Given the description of an element on the screen output the (x, y) to click on. 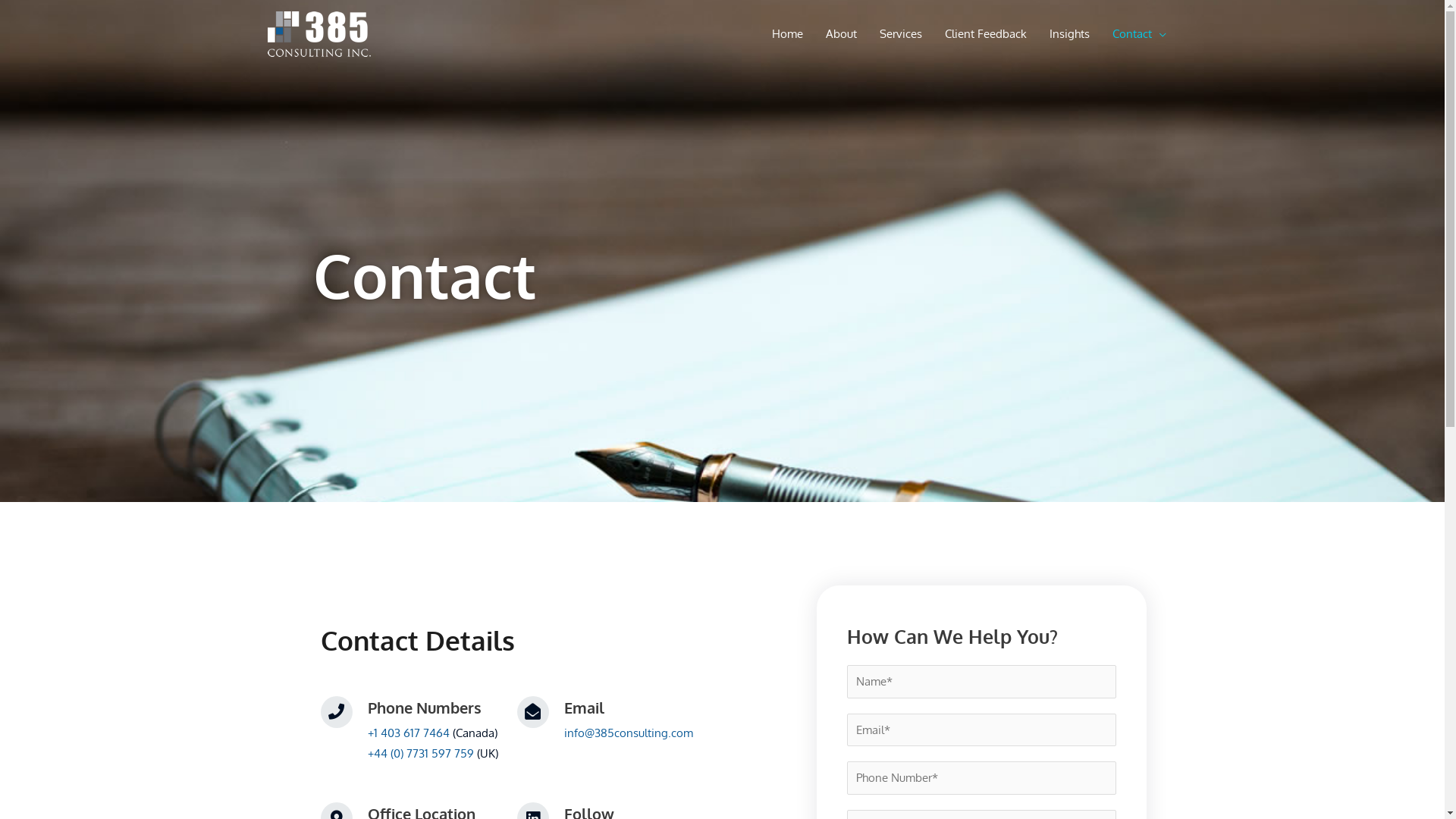
Contact Element type: text (1139, 33)
Insights Element type: text (1068, 33)
+44 (0) 7731 597 759 Element type: text (420, 753)
+1 403 617 7464 Element type: text (407, 731)
Services Element type: text (899, 33)
About Element type: text (841, 33)
info@385consulting.com Element type: text (628, 731)
Client Feedback Element type: text (984, 33)
Home Element type: text (786, 33)
